Given the description of an element on the screen output the (x, y) to click on. 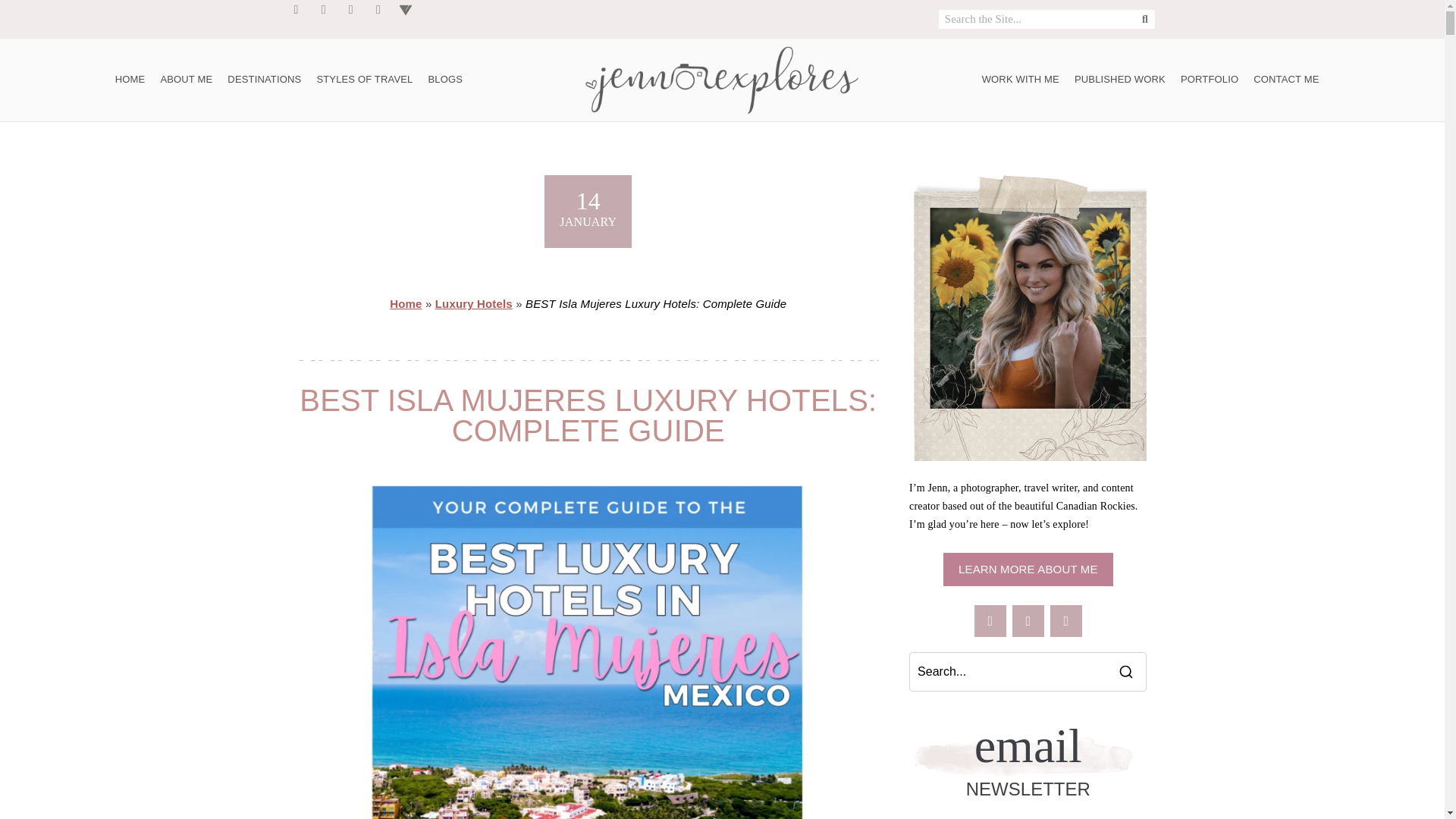
PORTFOLIO (1209, 79)
ABOUT ME (185, 79)
WORK WITH ME (1020, 79)
about me (1028, 569)
Search for: (1008, 671)
pinterest (1065, 621)
CONTACT ME (1286, 79)
STYLES OF TRAVEL (364, 79)
BLOGS (445, 79)
instagram (1027, 621)
PUBLISHED WORK (1120, 79)
facebook (990, 621)
DESTINATIONS (263, 79)
HOME (129, 79)
